Given the description of an element on the screen output the (x, y) to click on. 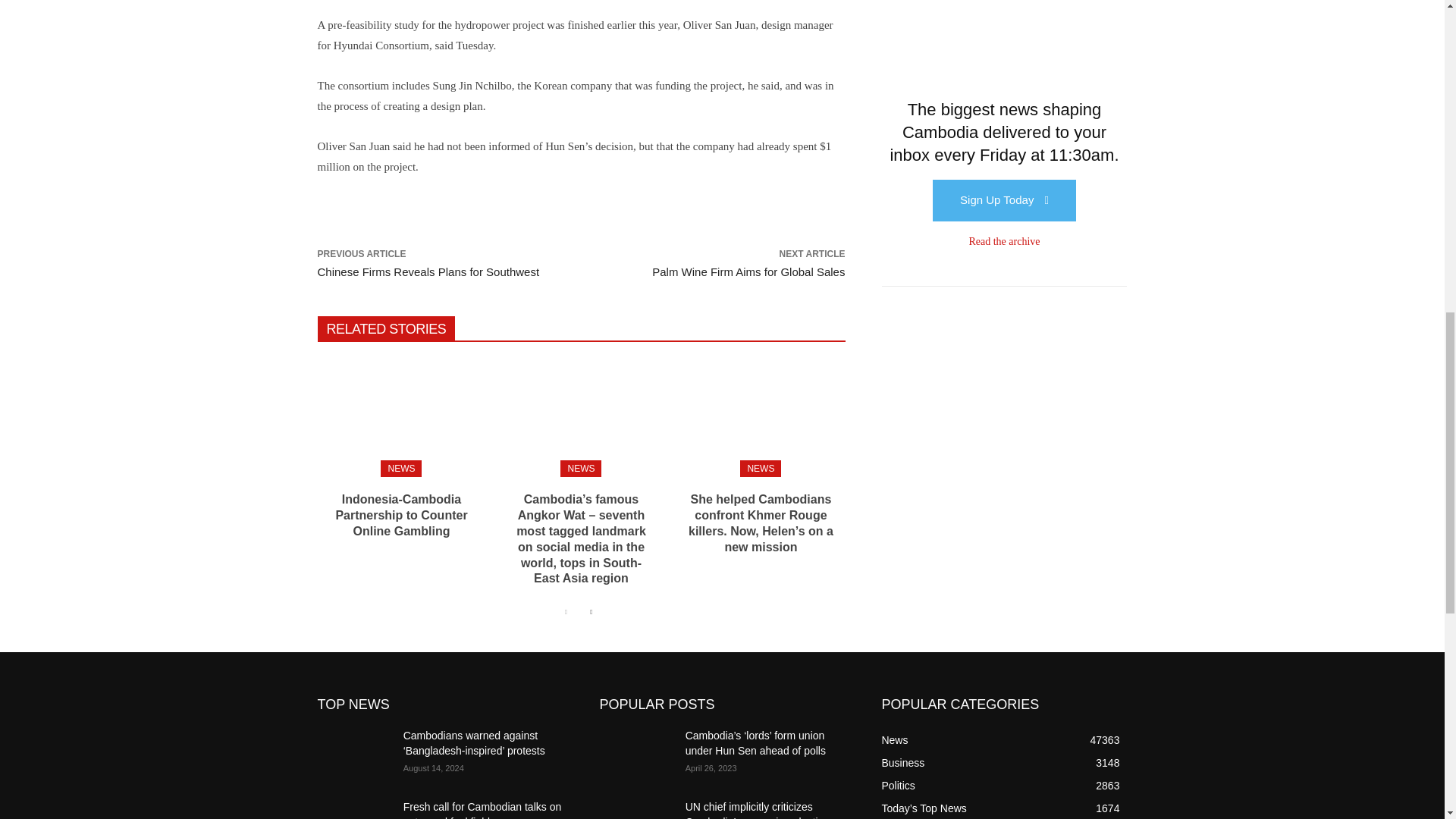
Palm Wine Firm Aims for Global Sales (748, 271)
Chinese Firms Reveals Plans for Southwest (427, 271)
Indonesia-Cambodia Partnership to Counter Online Gambling (400, 415)
NEWS (759, 468)
Indonesia-Cambodia Partnership to Counter Online Gambling (400, 515)
NEWS (401, 468)
NEWS (580, 468)
Indonesia-Cambodia Partnership to Counter Online Gambling (400, 515)
